Given the description of an element on the screen output the (x, y) to click on. 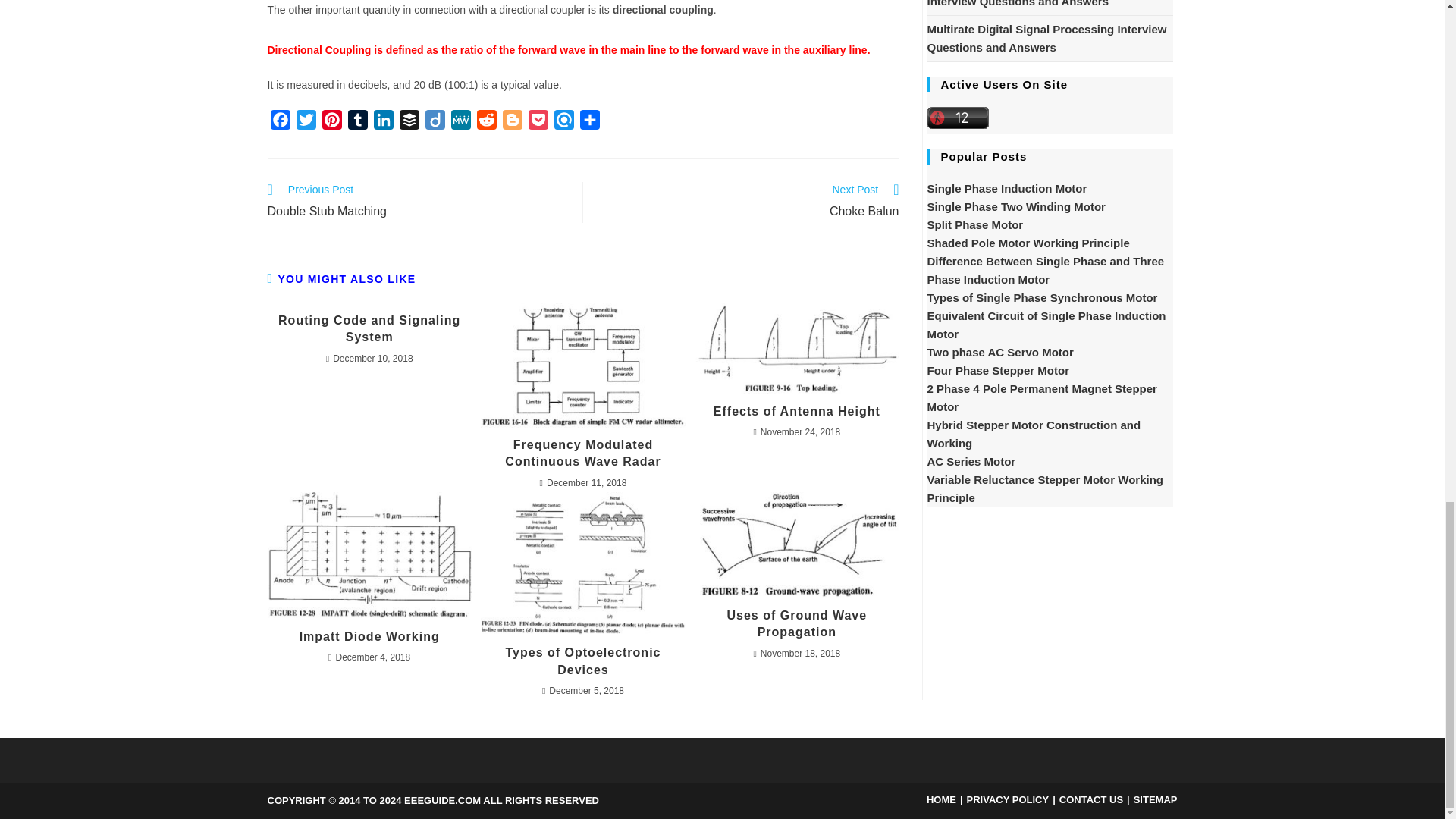
Buffer (409, 122)
Pocket (537, 122)
Tumblr (356, 122)
LinkedIn (382, 122)
Facebook (279, 122)
Pinterest (330, 122)
Reddit (486, 122)
Diigo (434, 122)
Twitter (305, 122)
MeWe (459, 122)
Blogger (511, 122)
